Given the description of an element on the screen output the (x, y) to click on. 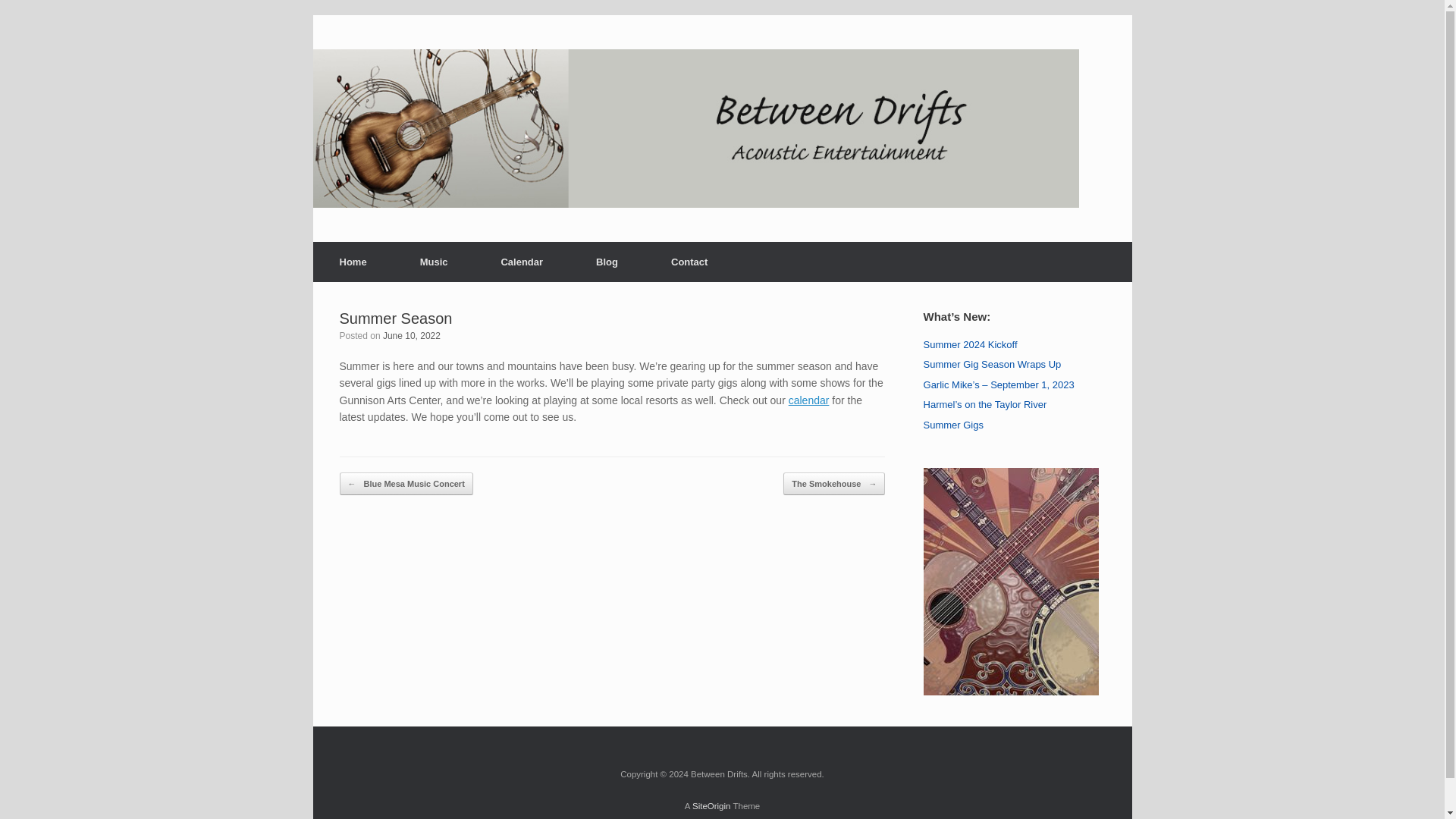
calendar (809, 399)
Home (353, 261)
Summer 2024 Kickoff (970, 343)
Blog (607, 261)
SiteOrigin (711, 805)
Music (433, 261)
Summer Gigs (953, 423)
Calendar (521, 261)
June 10, 2022 (411, 335)
